Given the description of an element on the screen output the (x, y) to click on. 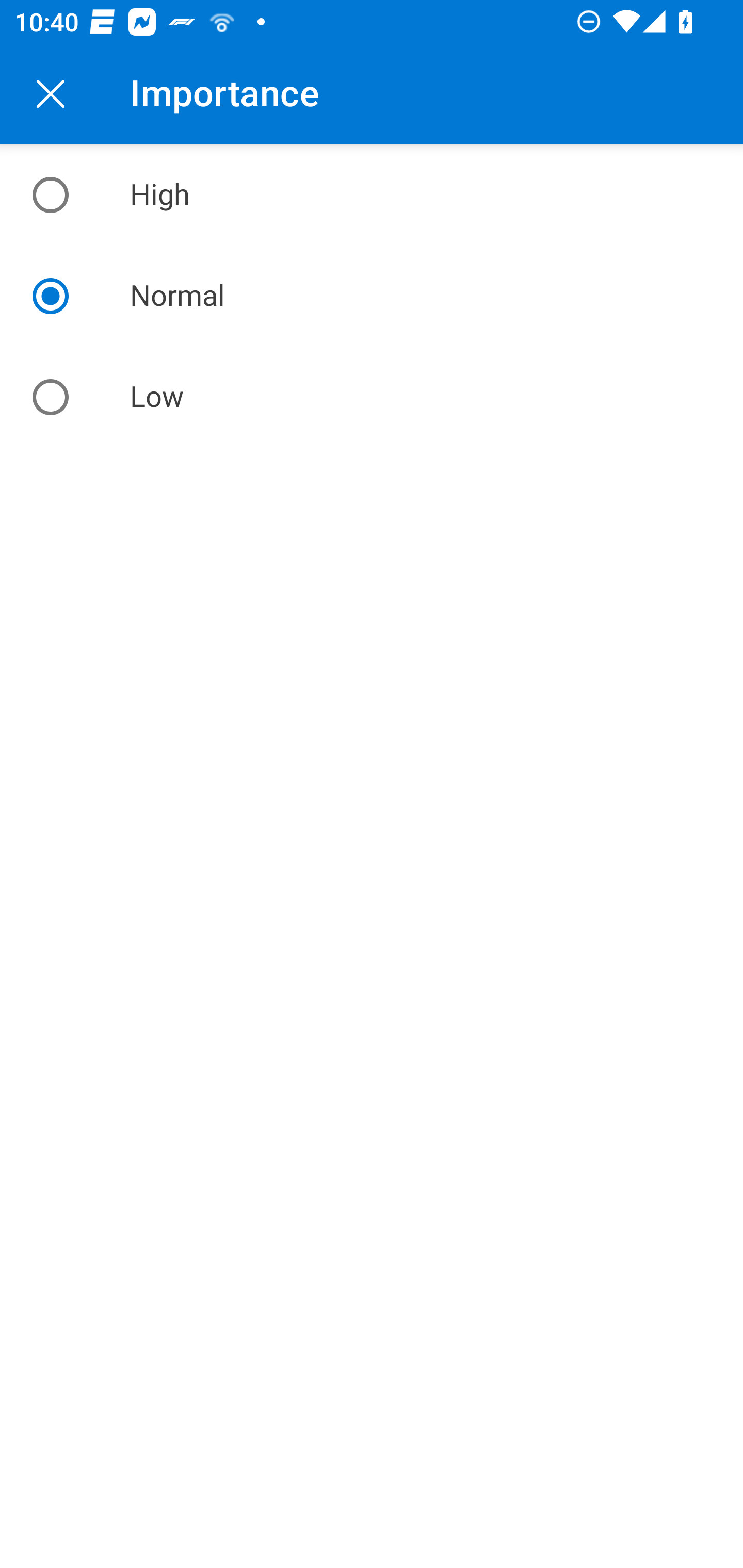
Back (50, 93)
High (371, 195)
Low (371, 397)
